Given the description of an element on the screen output the (x, y) to click on. 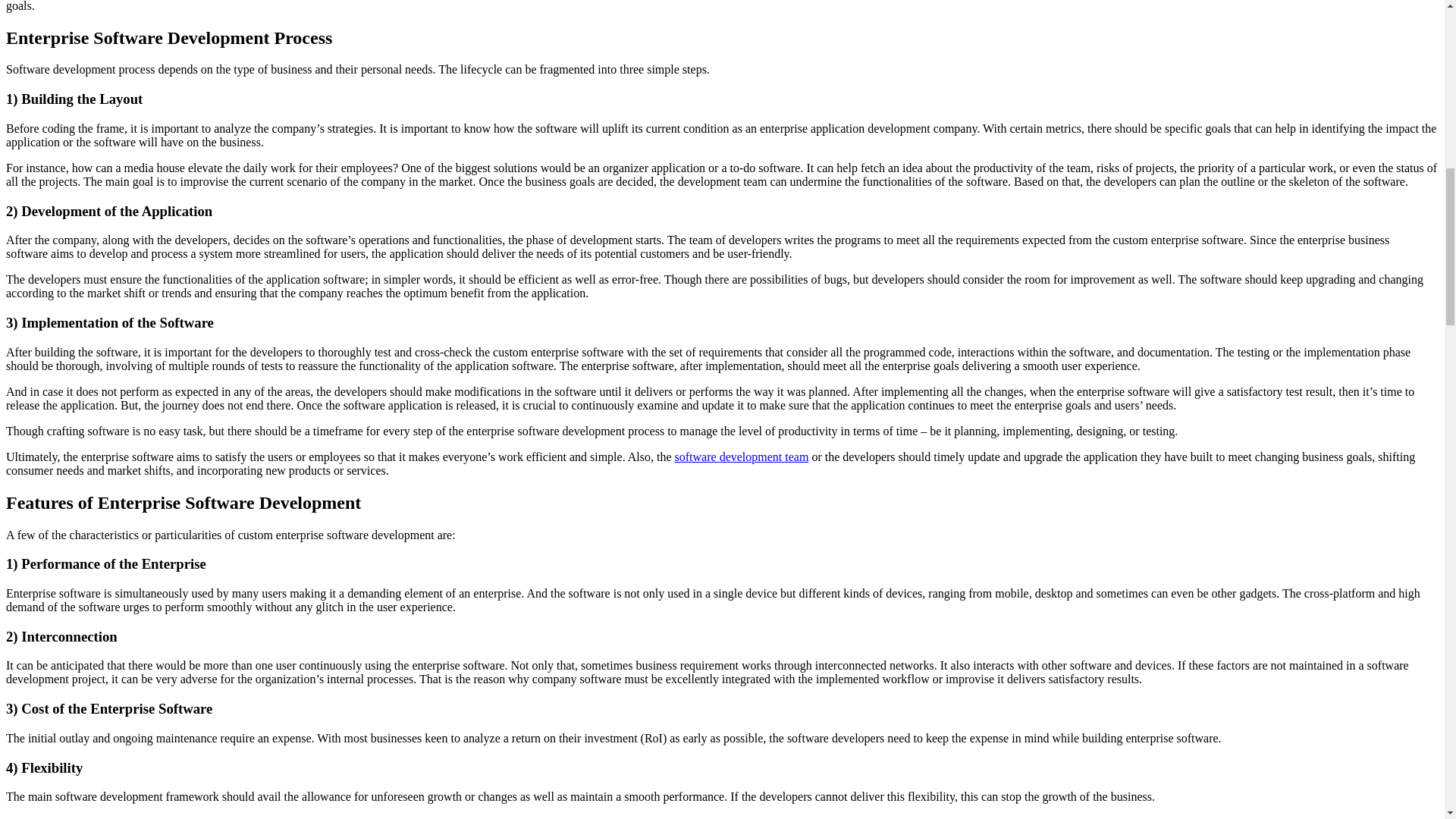
software development team (742, 456)
